Given the description of an element on the screen output the (x, y) to click on. 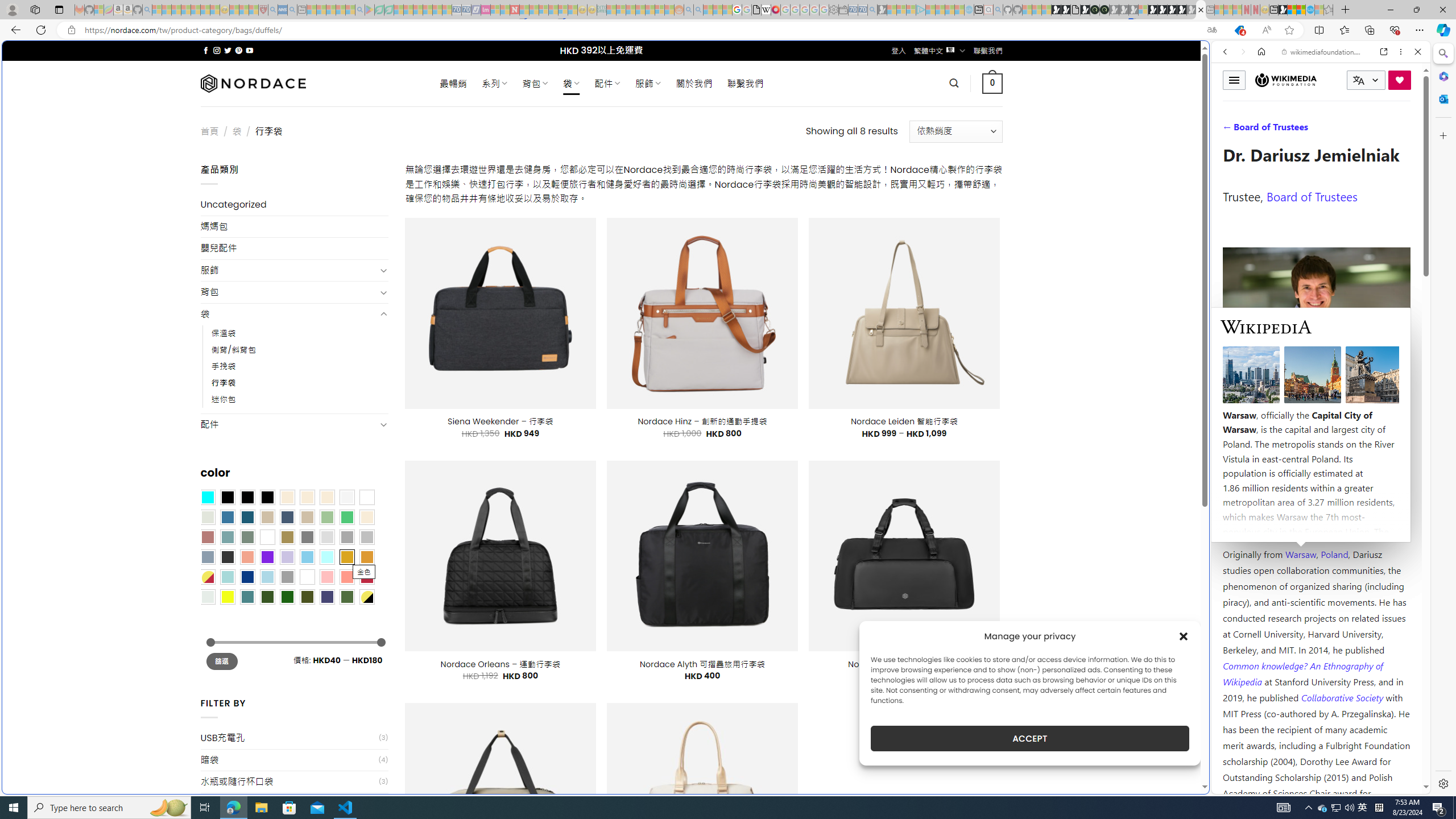
Search Filter, IMAGES (1262, 129)
Kozminski University (1316, 486)
Close split screen (1208, 57)
